Given the description of an element on the screen output the (x, y) to click on. 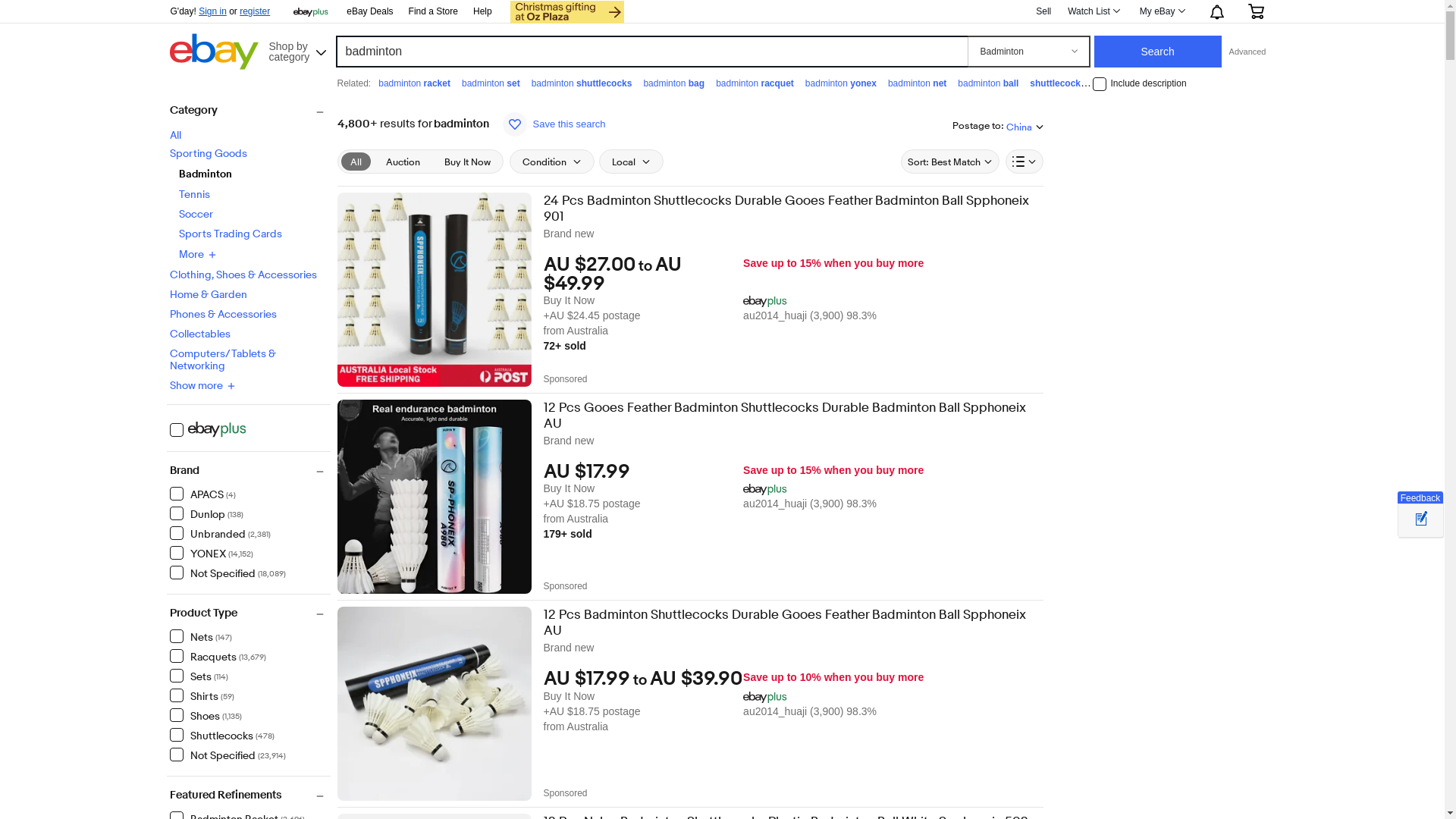
Racquets
(13,679) Items
(13,679) Element type: text (217, 655)
badminton shuttlecocks Element type: text (581, 83)
Not Specified
(18,089) Items
(18,089) Element type: text (227, 572)
All Element type: text (355, 161)
Local Element type: text (631, 161)
Watch List Element type: text (1092, 11)
Home & Garden Element type: text (208, 294)
Tennis Element type: text (194, 194)
badminton Element type: text (1132, 83)
badminton yonex Element type: text (840, 83)
badminton racquet Element type: text (754, 83)
Notification Element type: text (1216, 10)
register Element type: text (254, 11)
Unbranded
(2,381) Items
(2,381) Element type: text (219, 532)
Computers/Tablets & Networking Element type: text (222, 359)
Clothing, Shoes & Accessories Element type: text (242, 274)
Collectables Element type: text (199, 333)
Sporting Goods Element type: text (208, 153)
Not Specified
(23,914) Items
(23,914) Element type: text (227, 754)
Dunlop
(138) Items
(138) Element type: text (206, 513)
Postage to: China Element type: text (997, 125)
eBay Deals Element type: text (369, 11)
Phones & Accessories Element type: text (222, 313)
All Element type: text (175, 134)
Shuttlecocks
(478) Items
(478) Element type: text (221, 734)
shuttlecocks Element type: text (1057, 83)
Sets
(114) Items
(114) Element type: text (198, 675)
badminton bag Element type: text (673, 83)
Show more Element type: text (202, 385)
badminton net Element type: text (917, 83)
Find a Store Element type: text (433, 11)
Sign in Element type: text (212, 11)
Sports Trading Cards Element type: text (230, 233)
Auction Element type: text (402, 161)
Help Element type: text (482, 11)
badminton ball Element type: text (987, 83)
Save this search Element type: text (553, 124)
Shoes
(1,135) Items
(1,135) Element type: text (205, 714)
Sort: Best Match Element type: text (949, 161)
Shop by category Element type: text (296, 49)
Condition Element type: text (551, 161)
badminton racket Element type: text (414, 83)
Nets
(147) Items
(147) Element type: text (200, 636)
Sell Element type: text (1043, 11)
My eBay Element type: text (1161, 11)
badminton set Element type: text (490, 83)
Soccer Element type: text (195, 213)
More Element type: text (197, 253)
APACS
(4) Items
(4) Element type: text (202, 493)
YONEX
(14,152) Items
(14,152) Element type: text (211, 552)
Advanced Element type: text (1247, 51)
Buy It Now Element type: text (467, 161)
Shirts
(59) Items
(59) Element type: text (201, 695)
Search Element type: text (1157, 51)
